Given the description of an element on the screen output the (x, y) to click on. 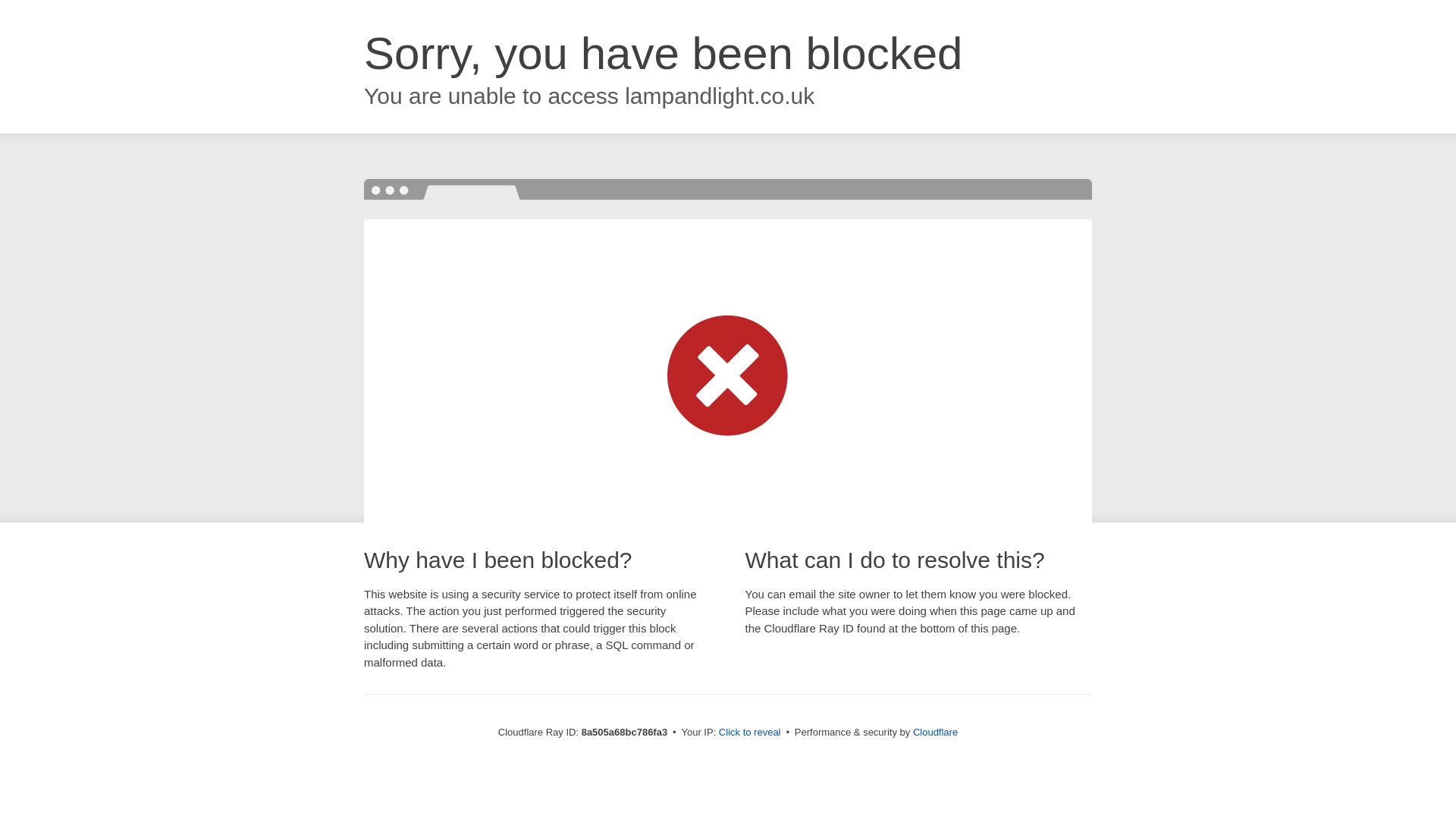
Cloudflare (935, 731)
Click to reveal (749, 732)
